Given the description of an element on the screen output the (x, y) to click on. 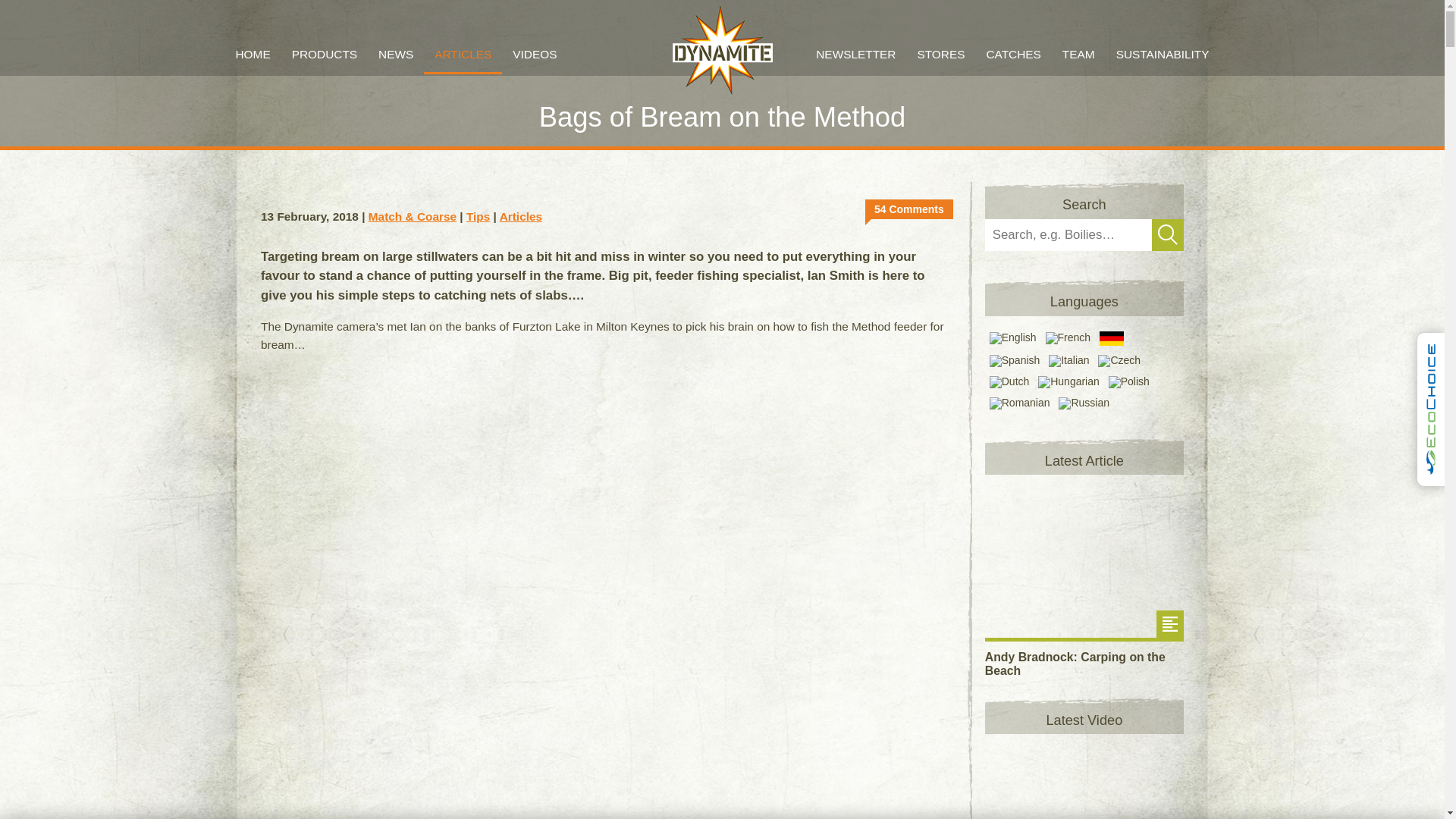
CATCHES (1013, 54)
NEWSLETTER (855, 55)
Polish (1127, 381)
Scroll to the comments (908, 209)
HOME (252, 55)
Italian (1067, 360)
English (1011, 338)
54 Comments (908, 209)
PRODUCTS (324, 55)
German (1110, 338)
